Given the description of an element on the screen output the (x, y) to click on. 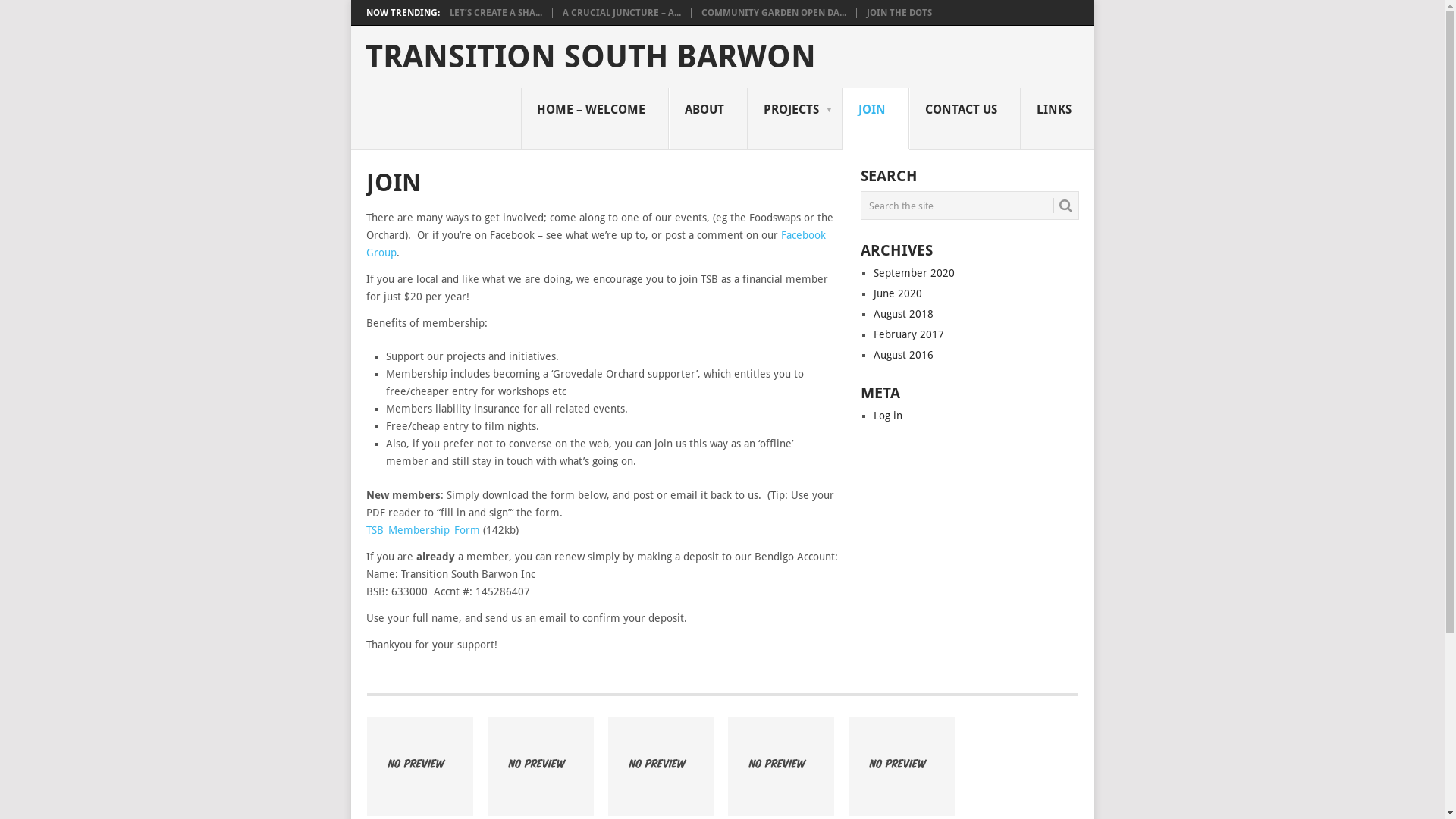
CONTACT US Element type: text (963, 118)
ABOUT Element type: text (707, 118)
A FEW THOUGHTS ON TRANSITION Element type: text (901, 766)
TRANSITION SOUTH BARWON Element type: text (590, 56)
February 2017 Element type: text (908, 334)
JOIN THE DOTS Element type: text (781, 766)
August 2016 Element type: text (903, 354)
August 2018 Element type: text (903, 313)
Log in Element type: text (887, 415)
COMMUNITY GARDEN OPEN DAY 2018 Element type: text (661, 766)
JOIN THE DOTS Element type: text (898, 12)
PROJECTS Element type: text (794, 118)
LINKS Element type: text (1057, 118)
COMMUNITY GARDEN OPEN DA... Element type: text (772, 12)
Facebook Group Element type: text (595, 243)
June 2020 Element type: text (897, 293)
September 2020 Element type: text (913, 272)
TSB_Membership_Form  Element type: text (423, 530)
JOIN Element type: text (874, 118)
